Given the description of an element on the screen output the (x, y) to click on. 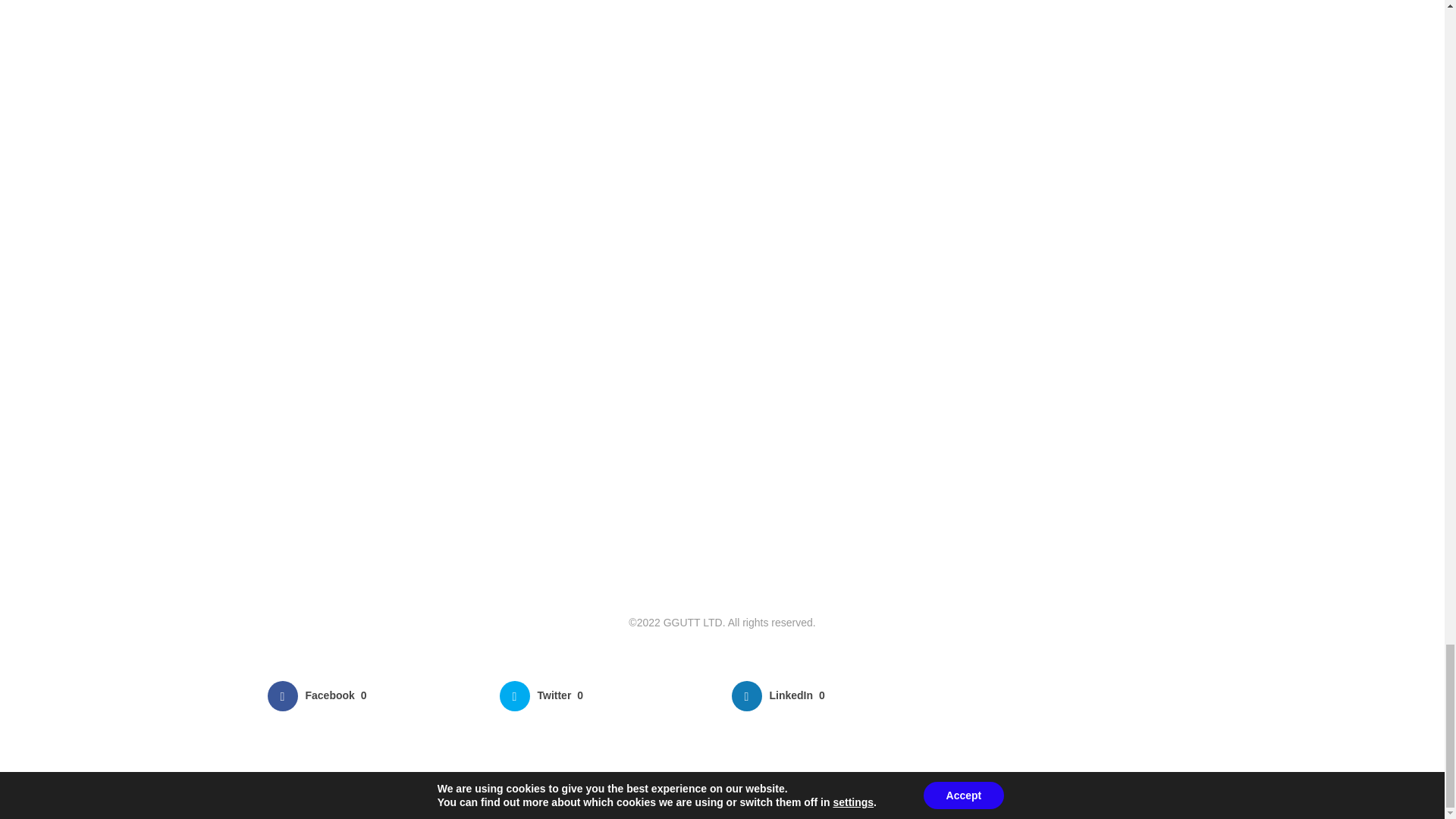
Facebook 0 (373, 695)
Twitter 0 (606, 695)
LinkedIn 0 (837, 695)
